Given the description of an element on the screen output the (x, y) to click on. 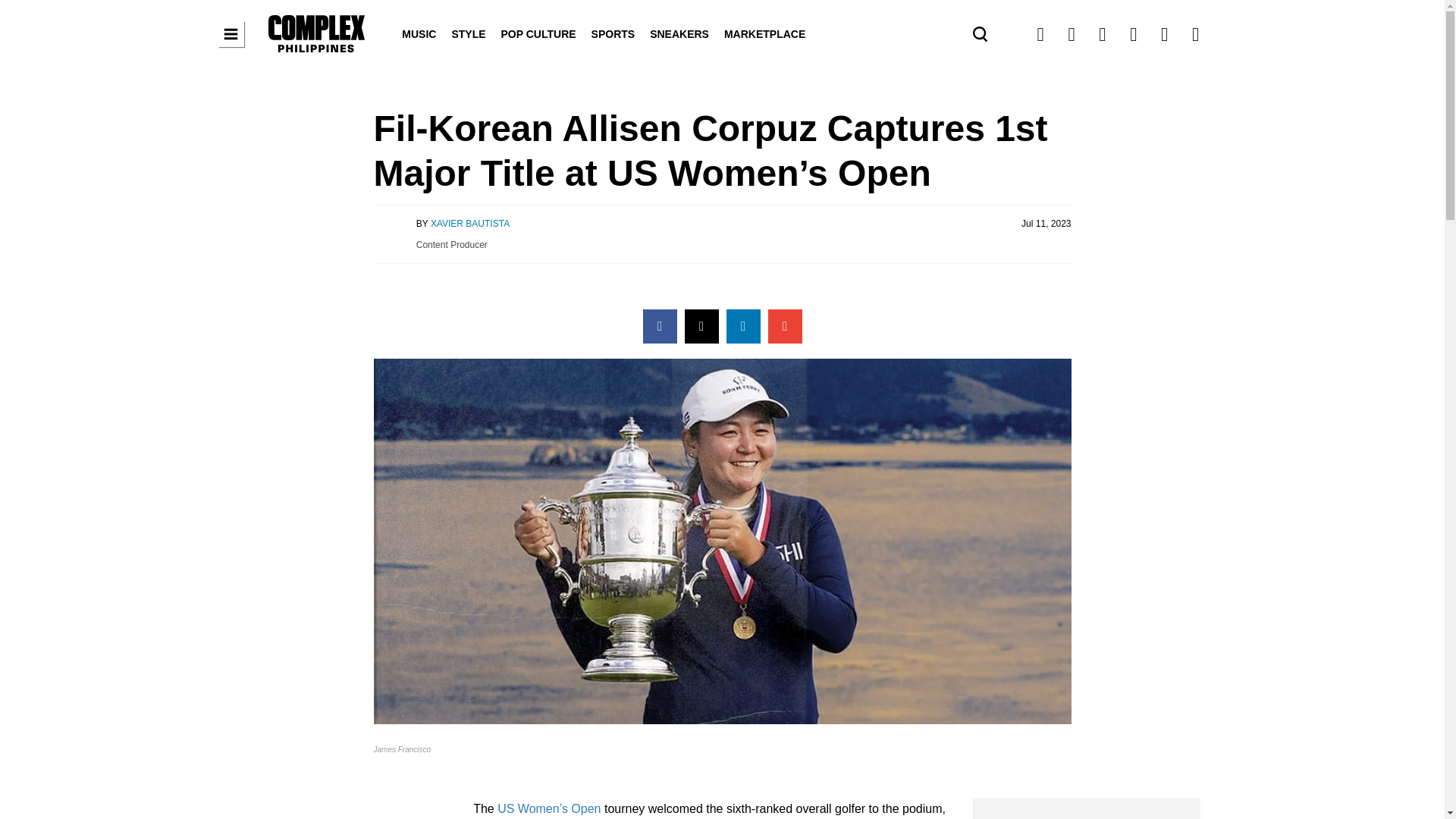
POP CULTURE (538, 33)
MARKETPLACE (764, 33)
STYLE (468, 33)
SNEAKERS (679, 33)
SPORTS (613, 33)
MUSIC (419, 33)
XAVIER BAUTISTA (469, 223)
